Given the description of an element on the screen output the (x, y) to click on. 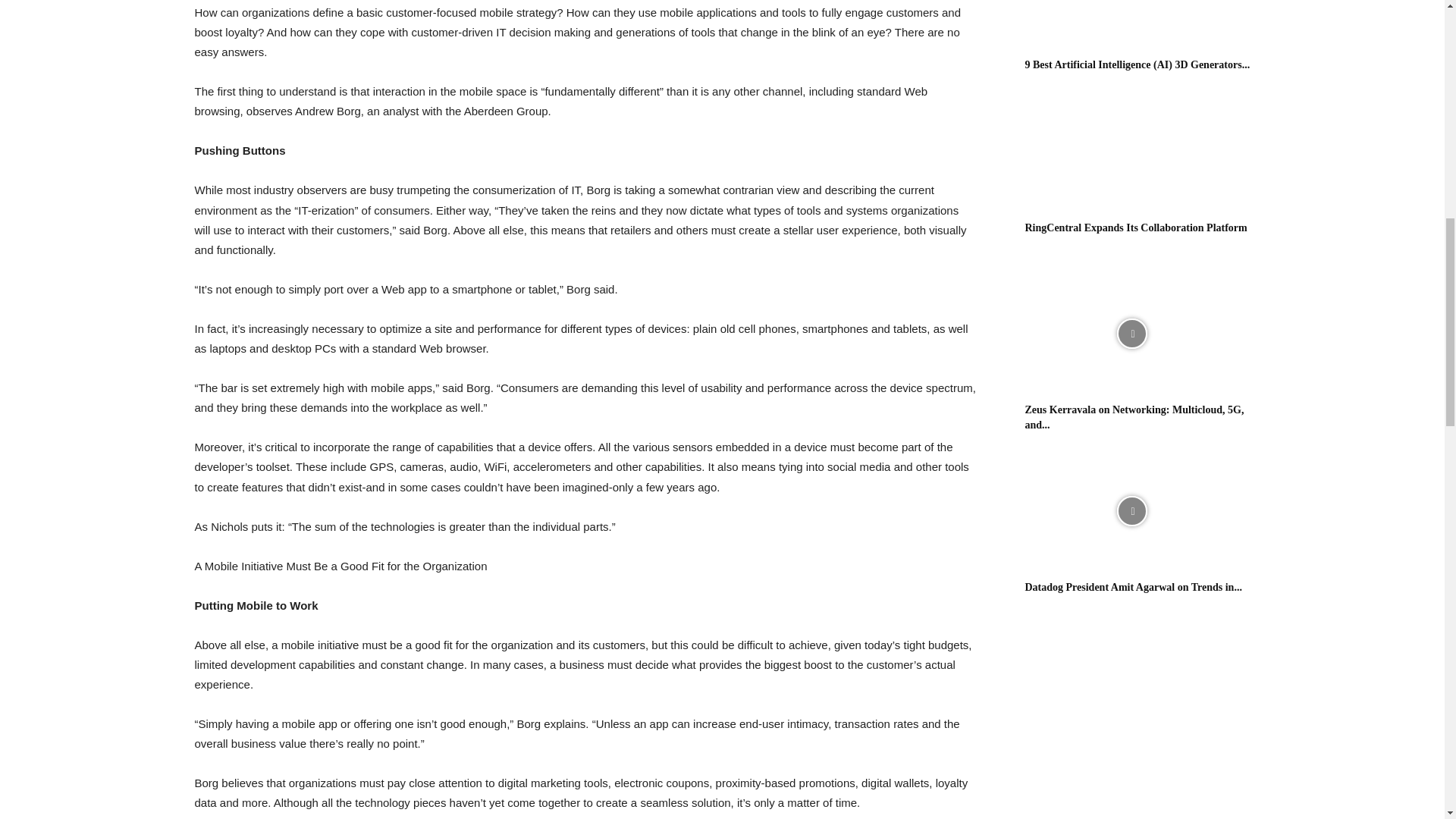
Zeus Kerravala on Networking: Multicloud, 5G, and Automation (1134, 417)
RingCentral Expands Its Collaboration Platform (1131, 151)
Zeus Kerravala on Networking: Multicloud, 5G, and Automation (1131, 333)
RingCentral Expands Its Collaboration Platform (1136, 227)
